Given the description of an element on the screen output the (x, y) to click on. 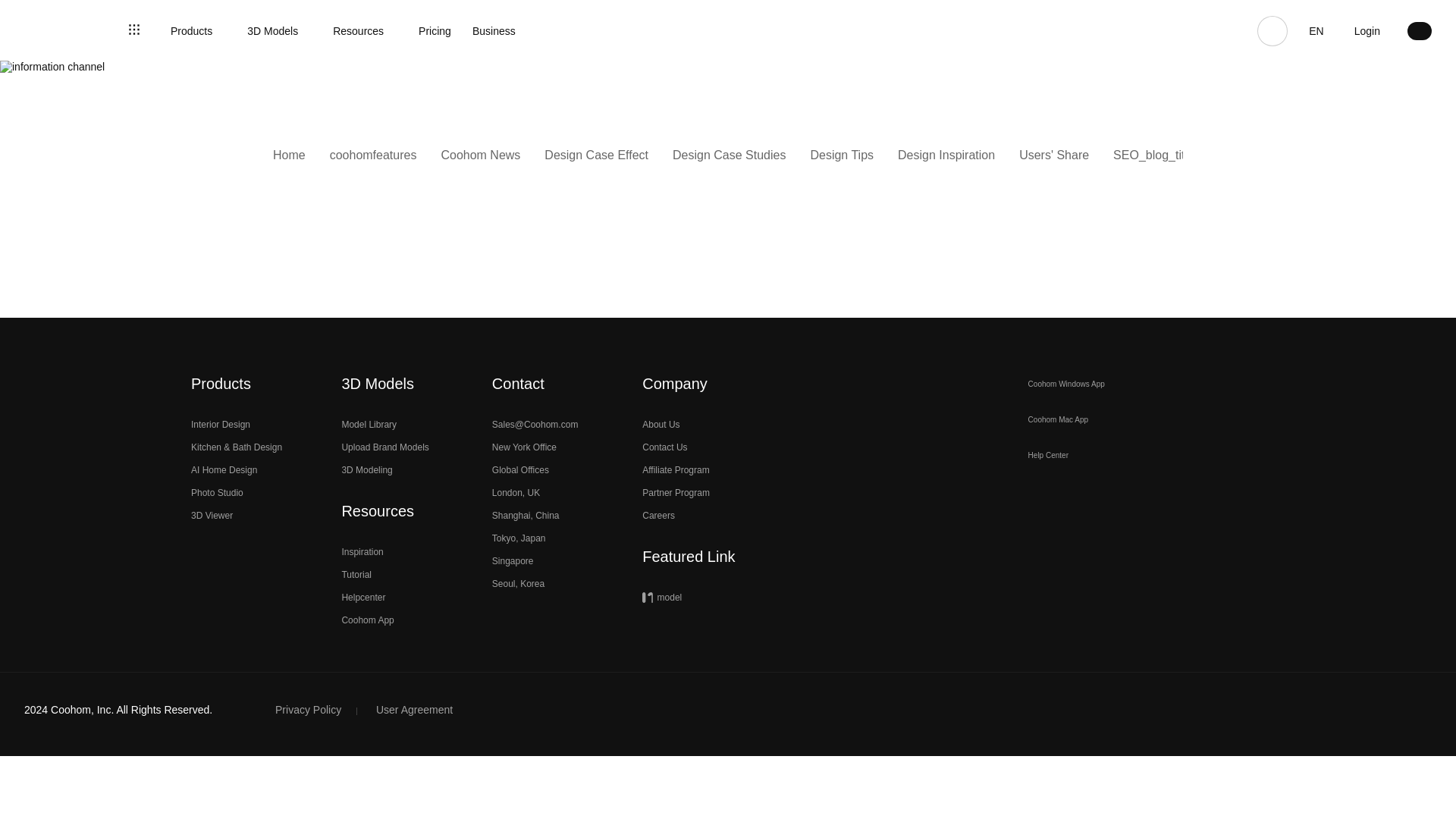
Design Inspiration (946, 155)
Business (500, 30)
Design Tips (841, 155)
3D Models (279, 30)
Coohom News (480, 155)
Pricing (435, 30)
EN (1316, 30)
Resources (365, 30)
Users' Share (1054, 155)
coohomfeatures (373, 155)
Login (1367, 30)
Design Case Effect (595, 155)
Home (289, 155)
Design Case Studies (729, 155)
Products (197, 30)
